Given the description of an element on the screen output the (x, y) to click on. 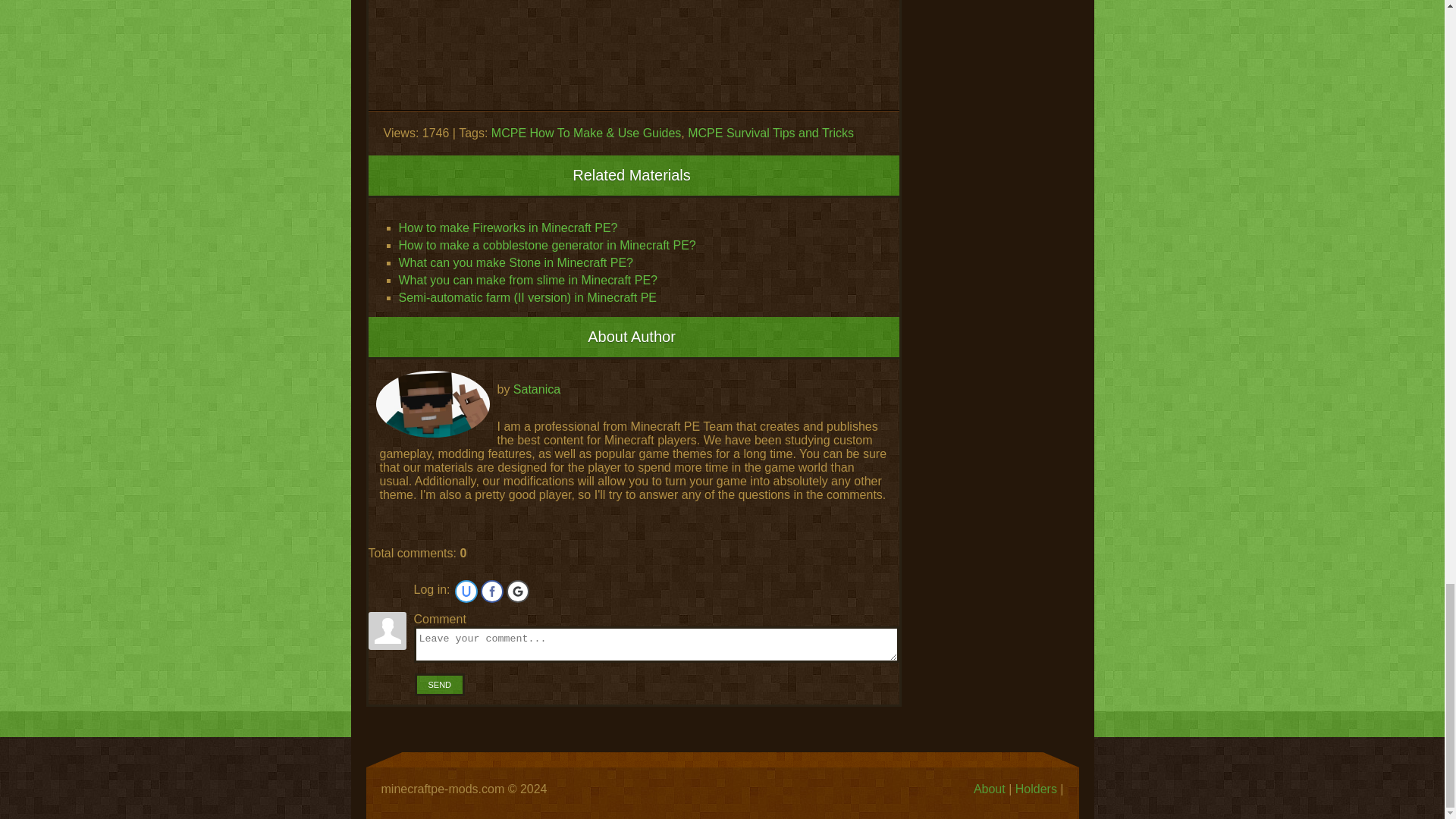
MinecraftPE Team (432, 404)
How to make Fireworks in Minecraft PE? (507, 227)
What can you make Stone in Minecraft PE? (515, 262)
How to make a cobblestone generator in Minecraft PE? (546, 245)
What you can make from slime in Minecraft PE? (528, 279)
